Given the description of an element on the screen output the (x, y) to click on. 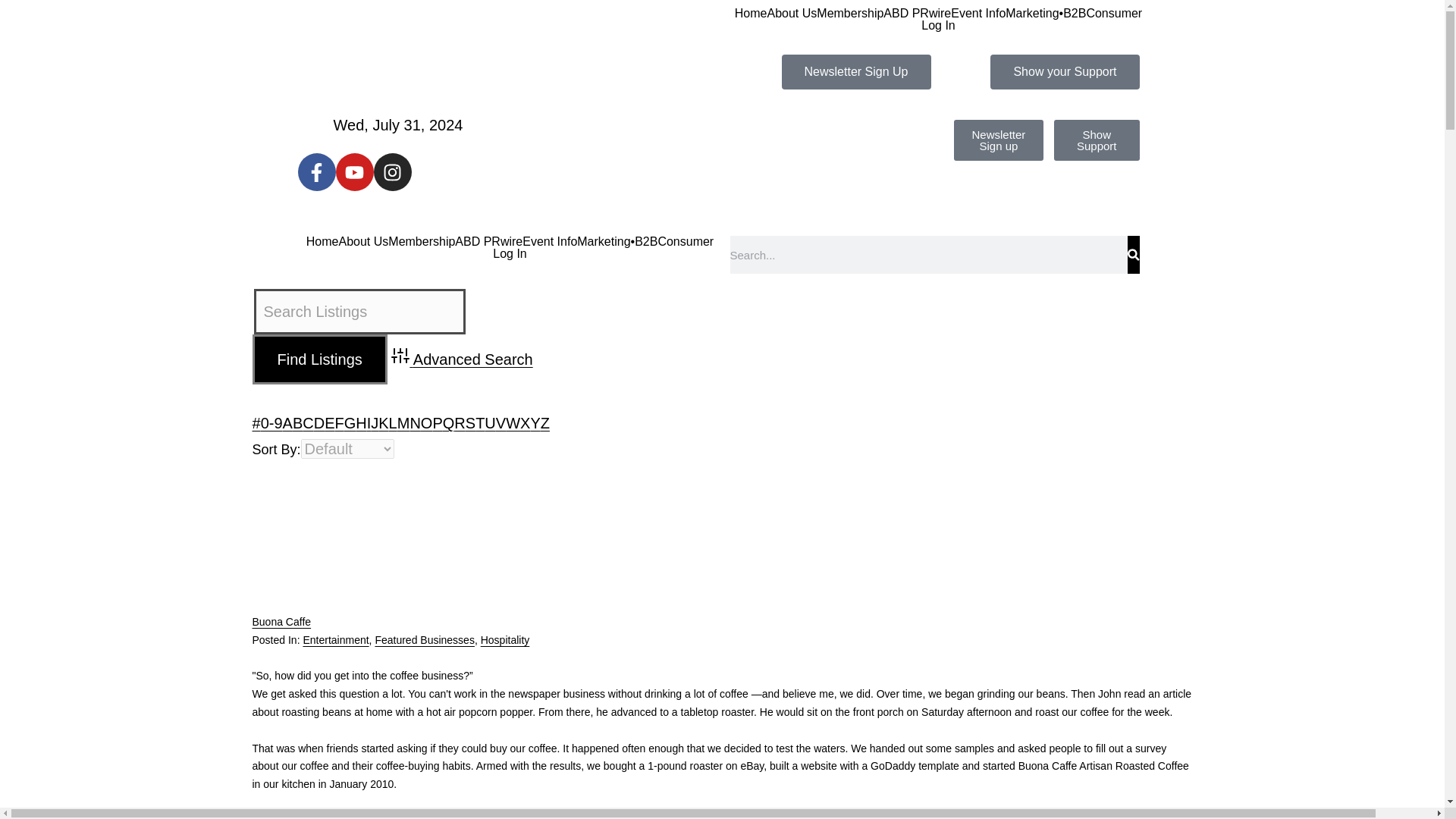
Advanced Search (461, 359)
Home (751, 13)
Find Listings (319, 359)
Quick search keywords (358, 311)
ABD PRwire (916, 13)
Membership (849, 13)
Marketing (1032, 13)
Event Info (978, 13)
Buona Caffe (478, 537)
About Us (791, 13)
